Given the description of an element on the screen output the (x, y) to click on. 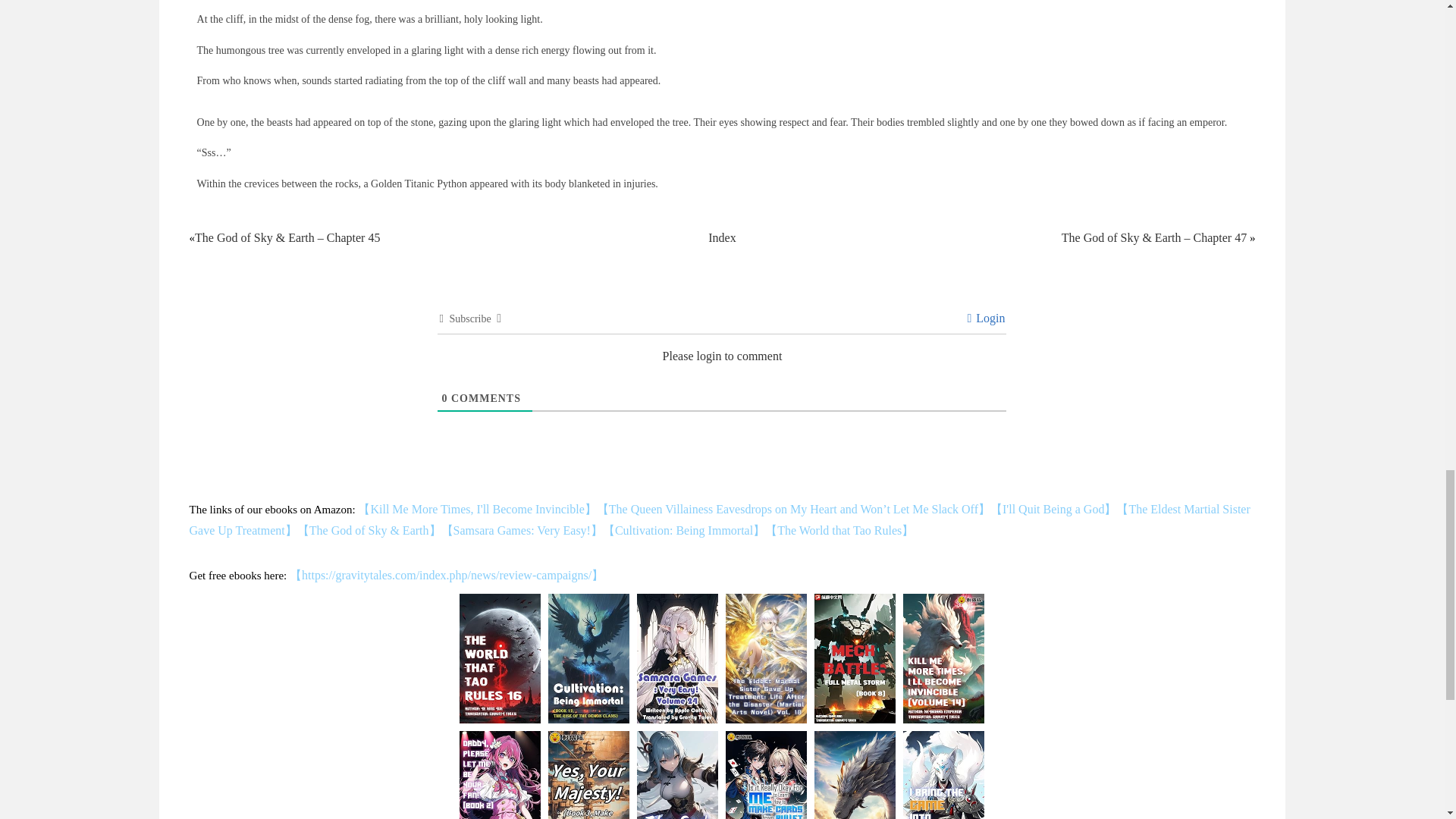
Login (985, 318)
Index (721, 237)
